Given the description of an element on the screen output the (x, y) to click on. 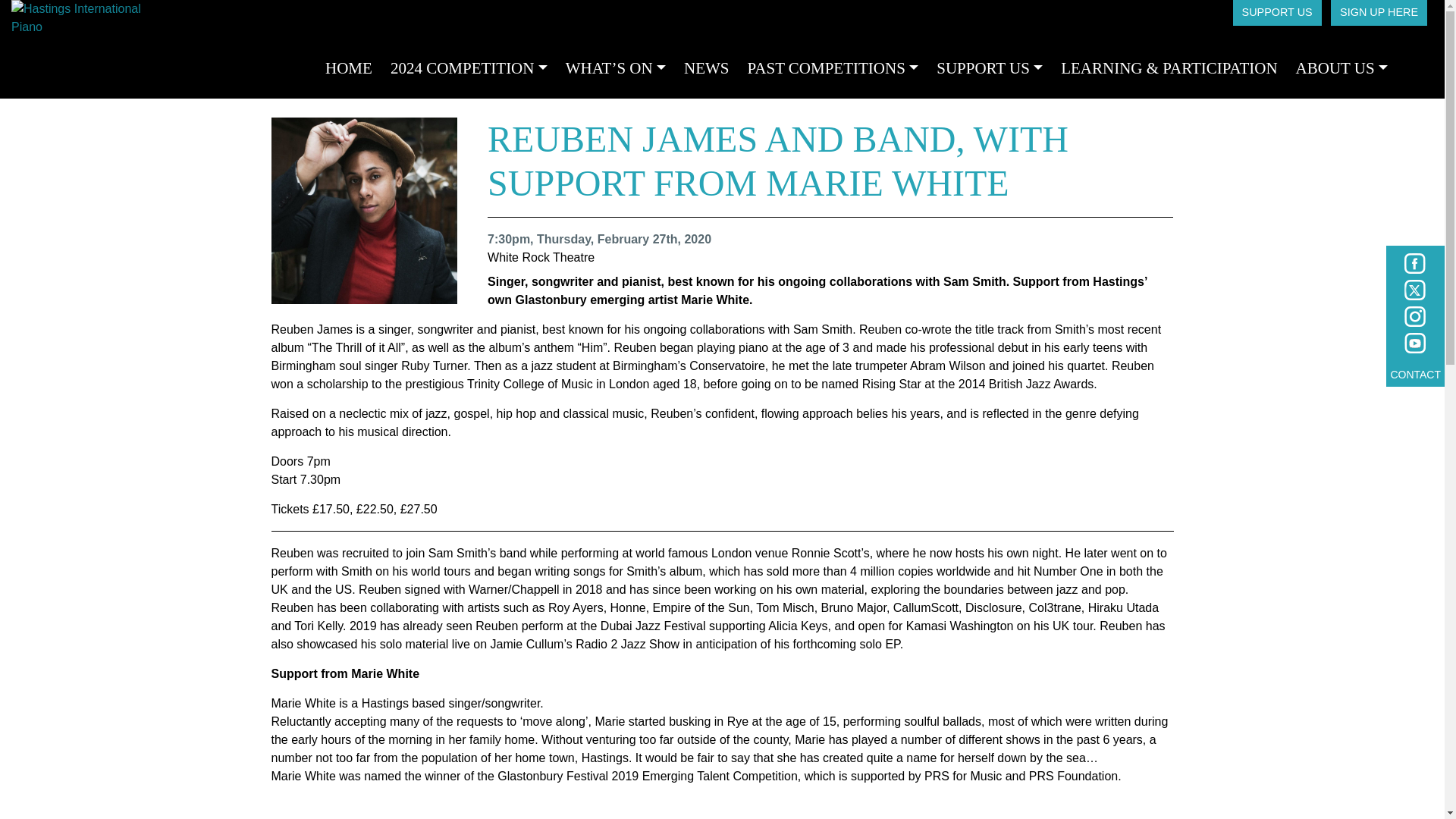
NEWS (706, 69)
SUPPORT US (1277, 12)
Home (348, 69)
2024 Competition (468, 69)
SUPPORT US (989, 69)
2024 COMPETITION (468, 69)
What's On (615, 69)
ABOUT US (1341, 69)
PAST COMPETITIONS (833, 69)
SIGN UP HERE (1378, 12)
HOME (348, 69)
